Given the description of an element on the screen output the (x, y) to click on. 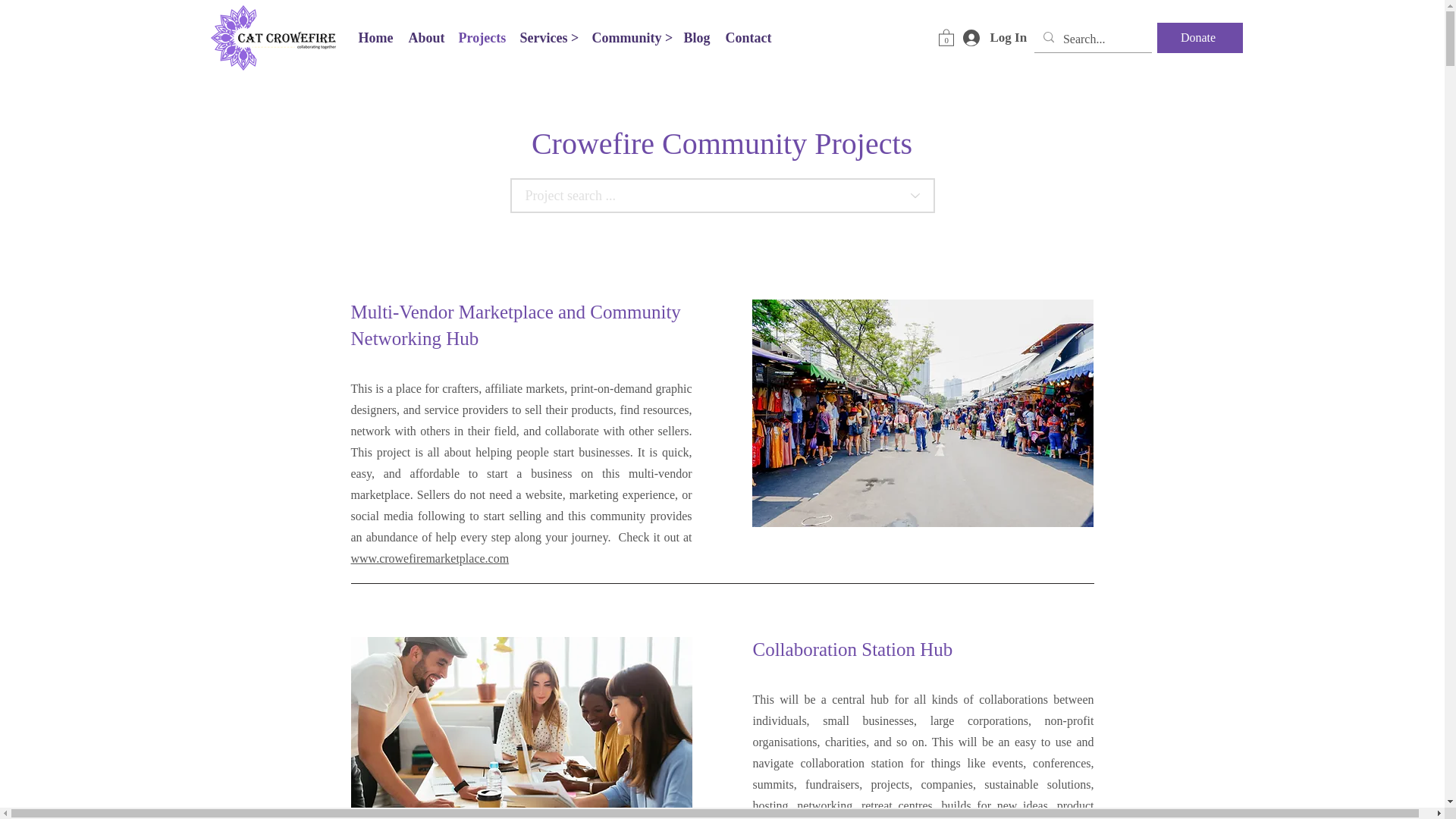
www.crowefiremarketplace.com (429, 558)
Contact (747, 37)
Log In (989, 38)
Blog (697, 37)
Home (375, 37)
Donate (1200, 37)
About (424, 37)
Projects (480, 37)
